Given the description of an element on the screen output the (x, y) to click on. 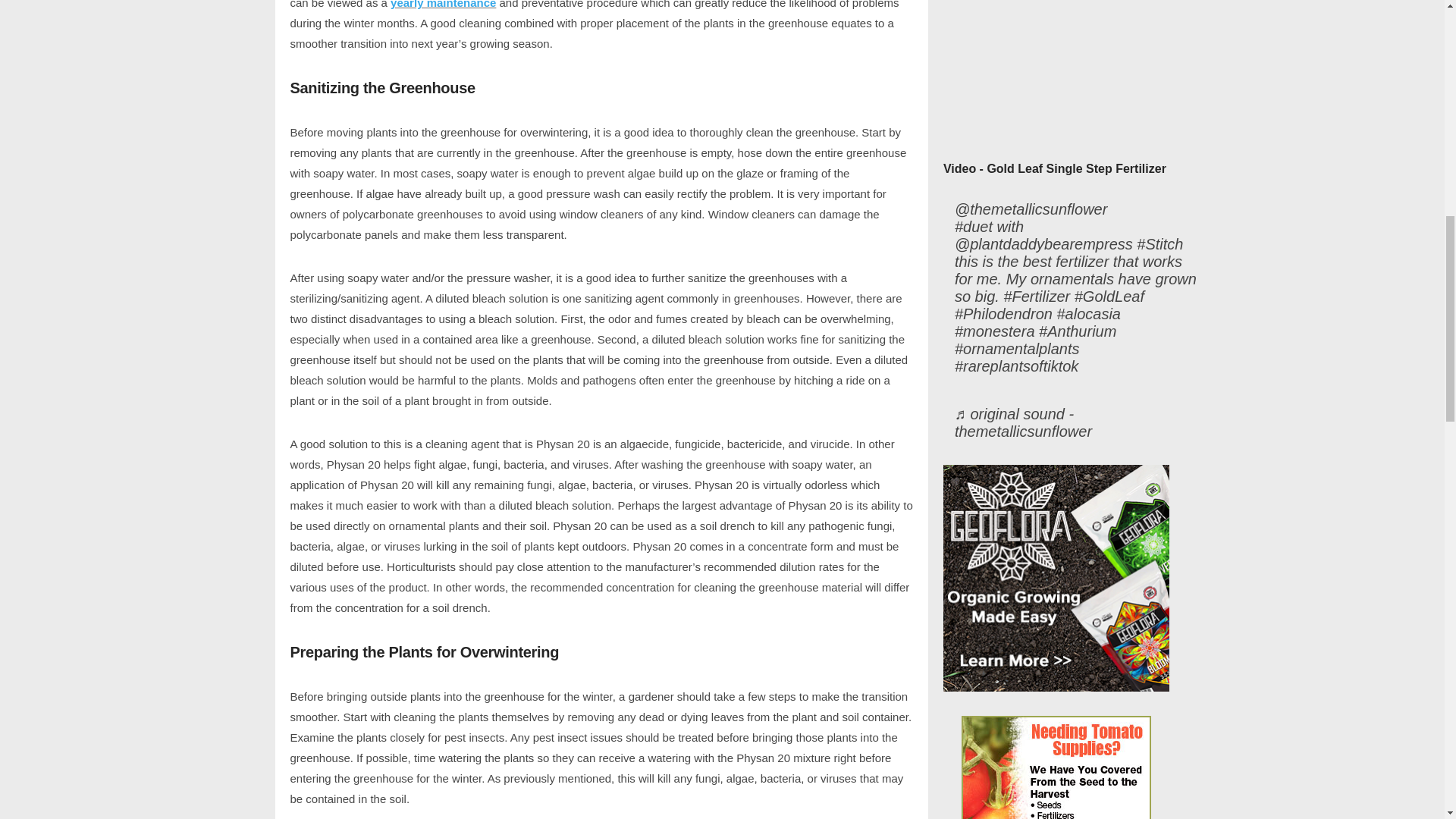
duet (973, 226)
ornamentalplants (1017, 348)
goldleaf (1109, 296)
alocasia (1089, 313)
stitch (1159, 244)
Fishnure Review by 7Pots (1056, 73)
philodendron (1003, 313)
anthurium (1077, 331)
fertilizer (1036, 296)
rareplantsoftiktok (1016, 366)
monestera (995, 331)
